Given the description of an element on the screen output the (x, y) to click on. 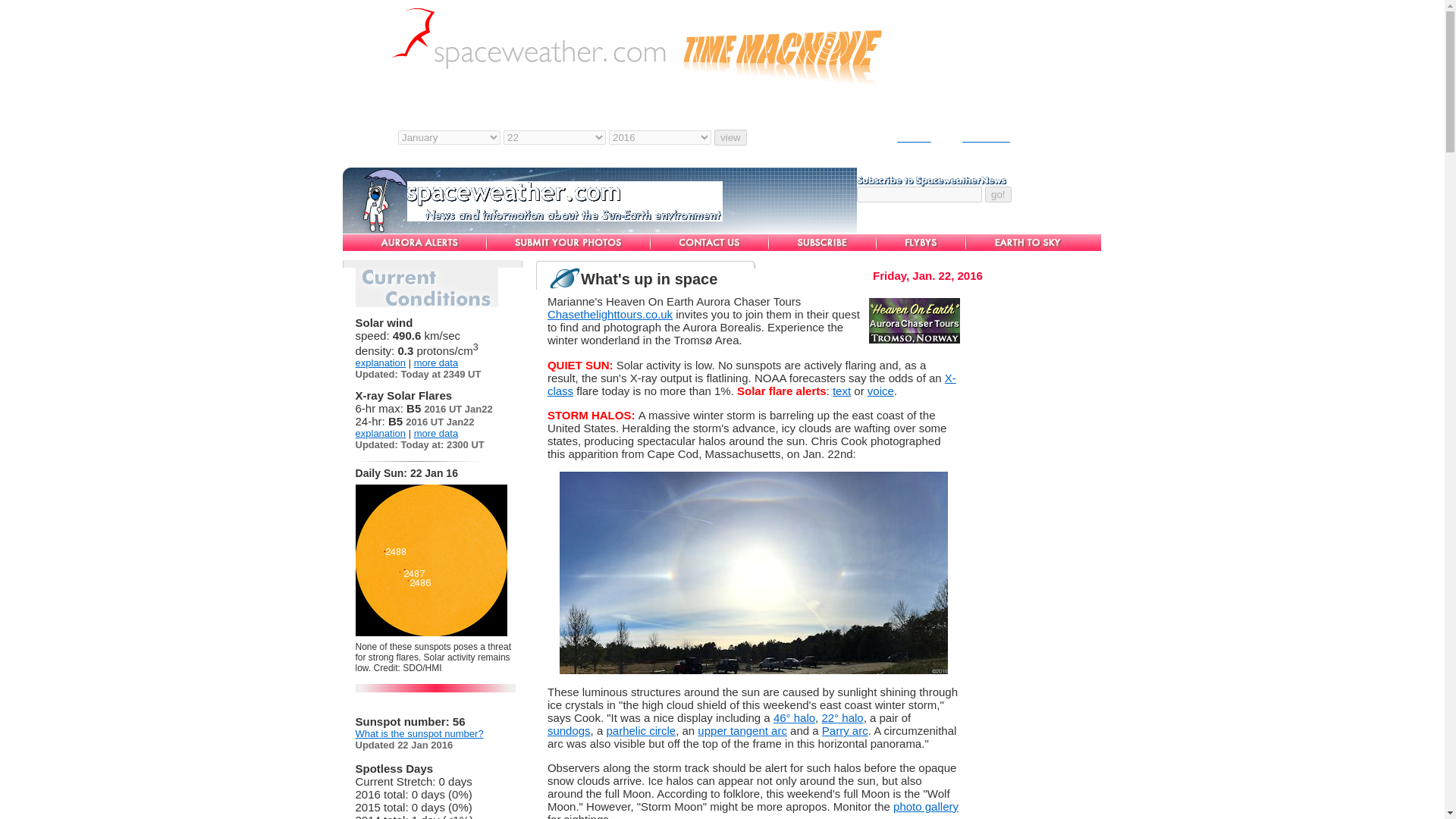
more data (435, 432)
Chasethelighttours.co.uk (609, 314)
go! (998, 194)
explanation (380, 362)
more data (435, 362)
voice (880, 390)
view (730, 137)
explanation (380, 432)
What is the sunspot number? (419, 733)
text (841, 390)
view (730, 137)
X-class (751, 384)
go! (998, 194)
